Given the description of an element on the screen output the (x, y) to click on. 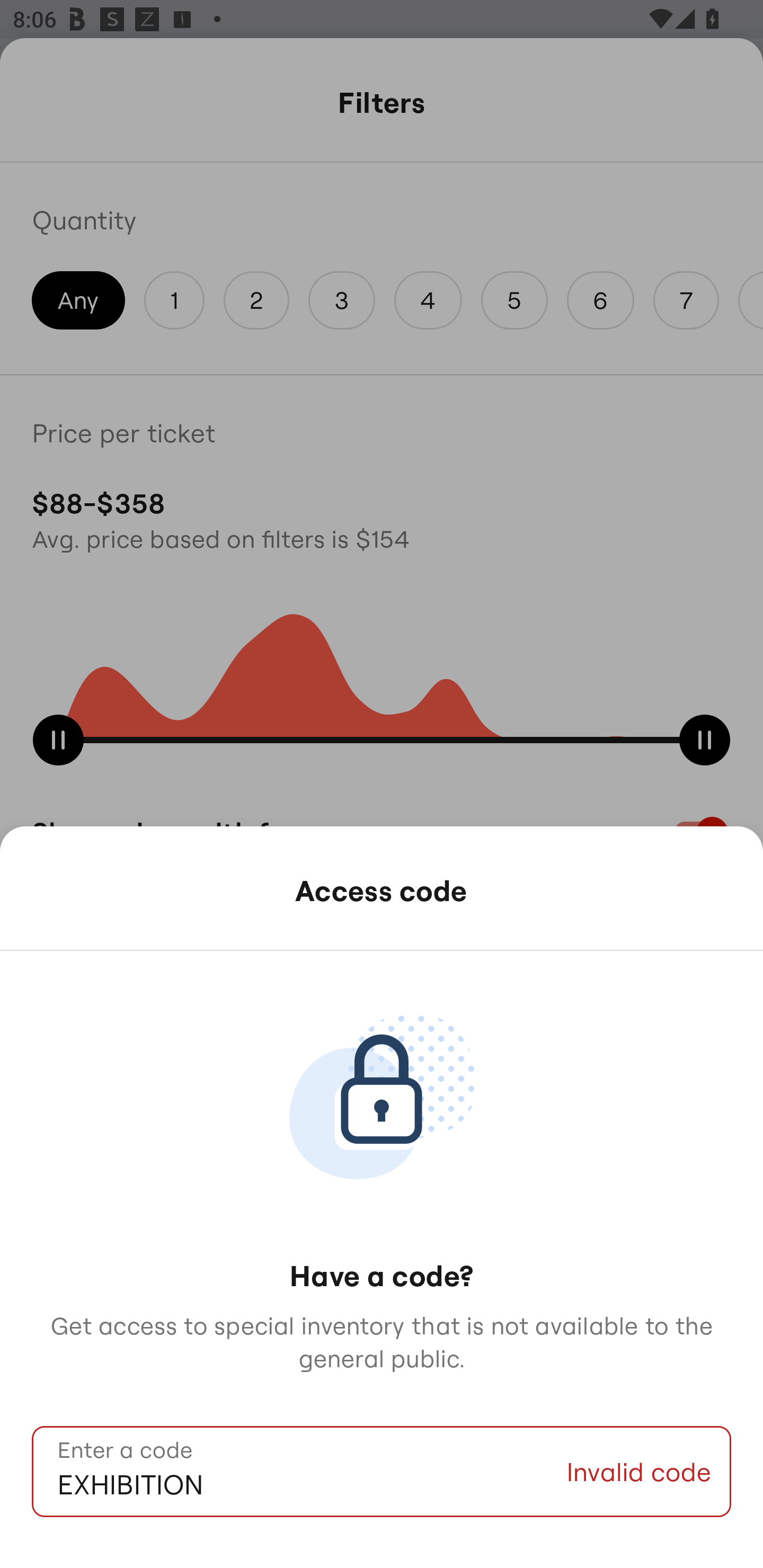
EXHIBITION Enter a code (299, 1471)
